Given the description of an element on the screen output the (x, y) to click on. 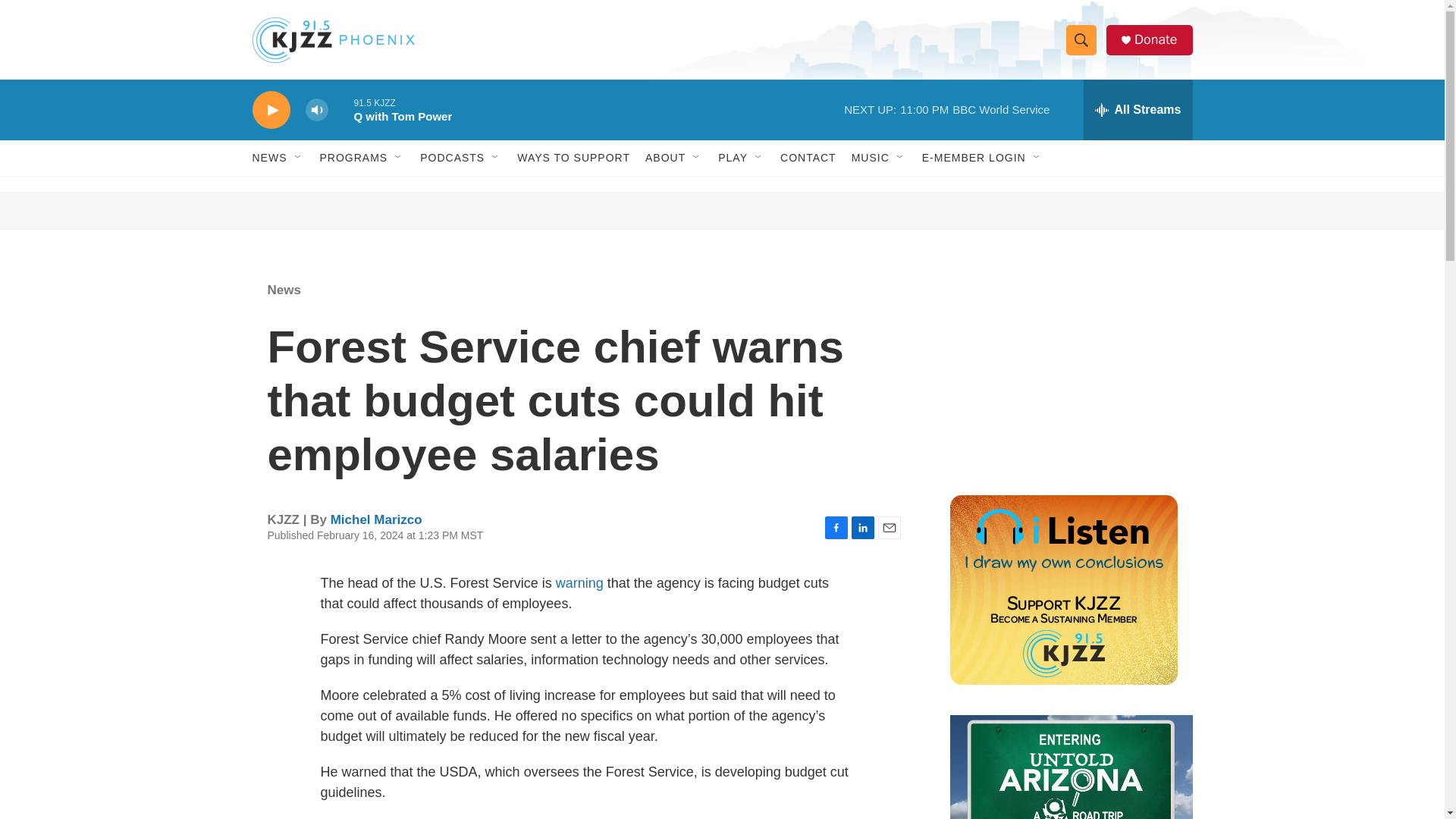
3rd party ad content (1062, 370)
3rd party ad content (722, 210)
